Given the description of an element on the screen output the (x, y) to click on. 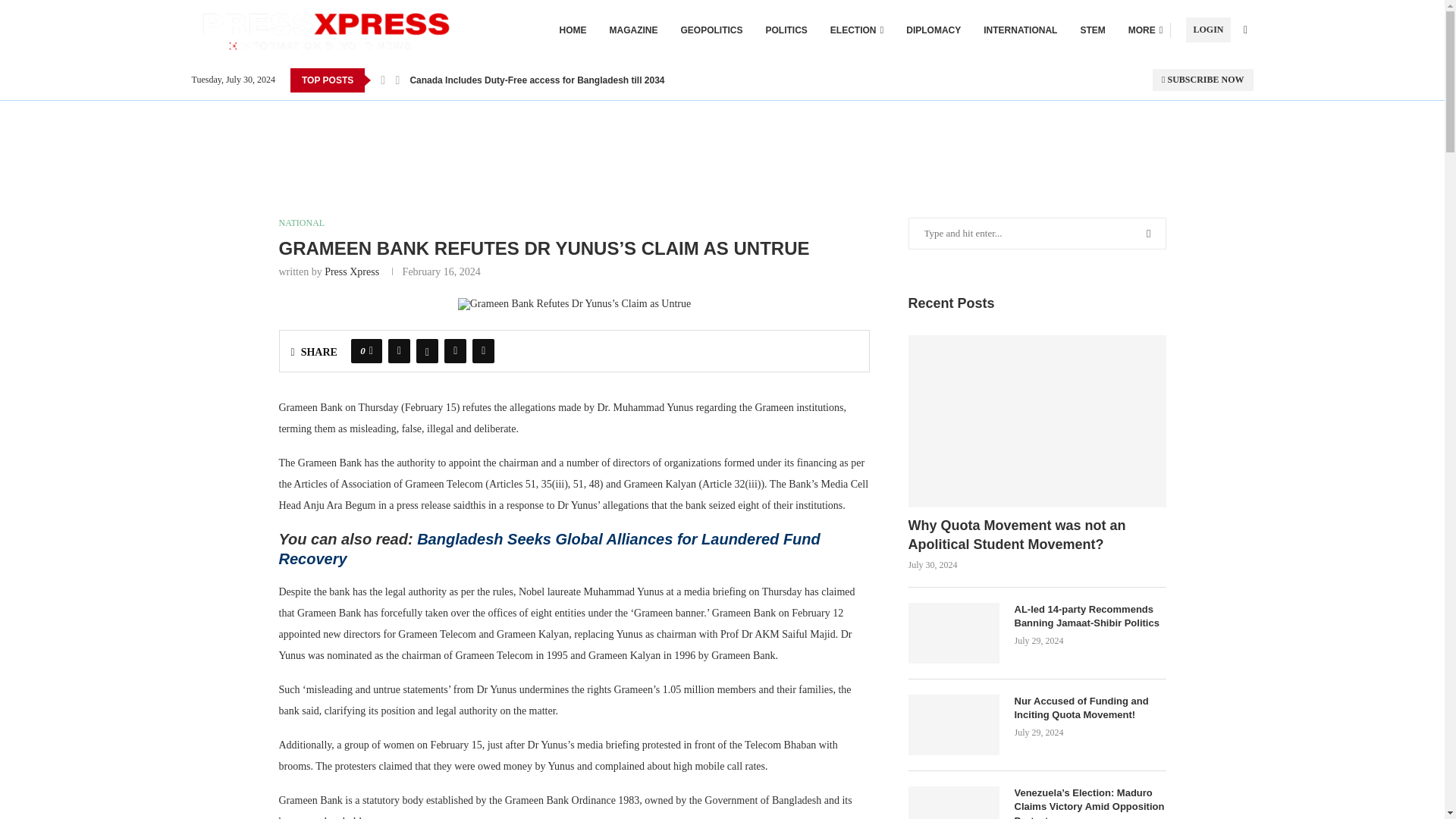
ELECTION (856, 30)
MAGAZINE (634, 30)
INTERNATIONAL (1020, 30)
Why Quota Movement was not an Apolitical Student Movement? (1037, 535)
DIPLOMACY (932, 30)
Why Quota Movement was not an Apolitical Student Movement? (1037, 420)
POLITICS (786, 30)
GEOPOLITICS (711, 30)
